Given the description of an element on the screen output the (x, y) to click on. 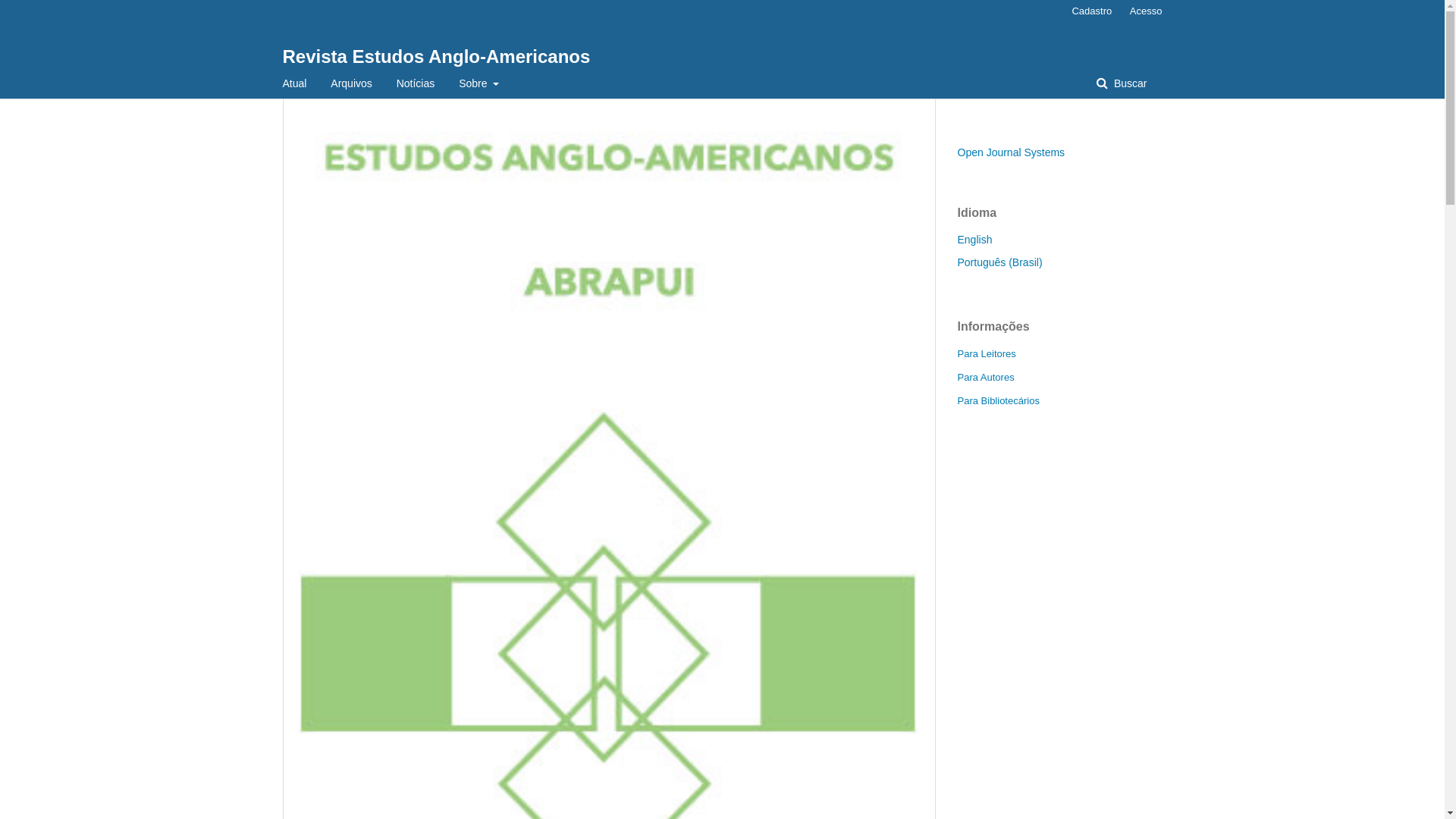
Buscar Element type: text (1121, 83)
Atual Element type: text (294, 83)
English Element type: text (974, 239)
Arquivos Element type: text (350, 83)
Para Leitores Element type: text (986, 353)
Acesso Element type: text (1142, 11)
Para Autores Element type: text (985, 376)
Cadastro Element type: text (1091, 11)
Sobre Element type: text (478, 83)
Open Journal Systems Element type: text (1010, 152)
Revista Estudos Anglo-Americanos Element type: text (435, 56)
